Given the description of an element on the screen output the (x, y) to click on. 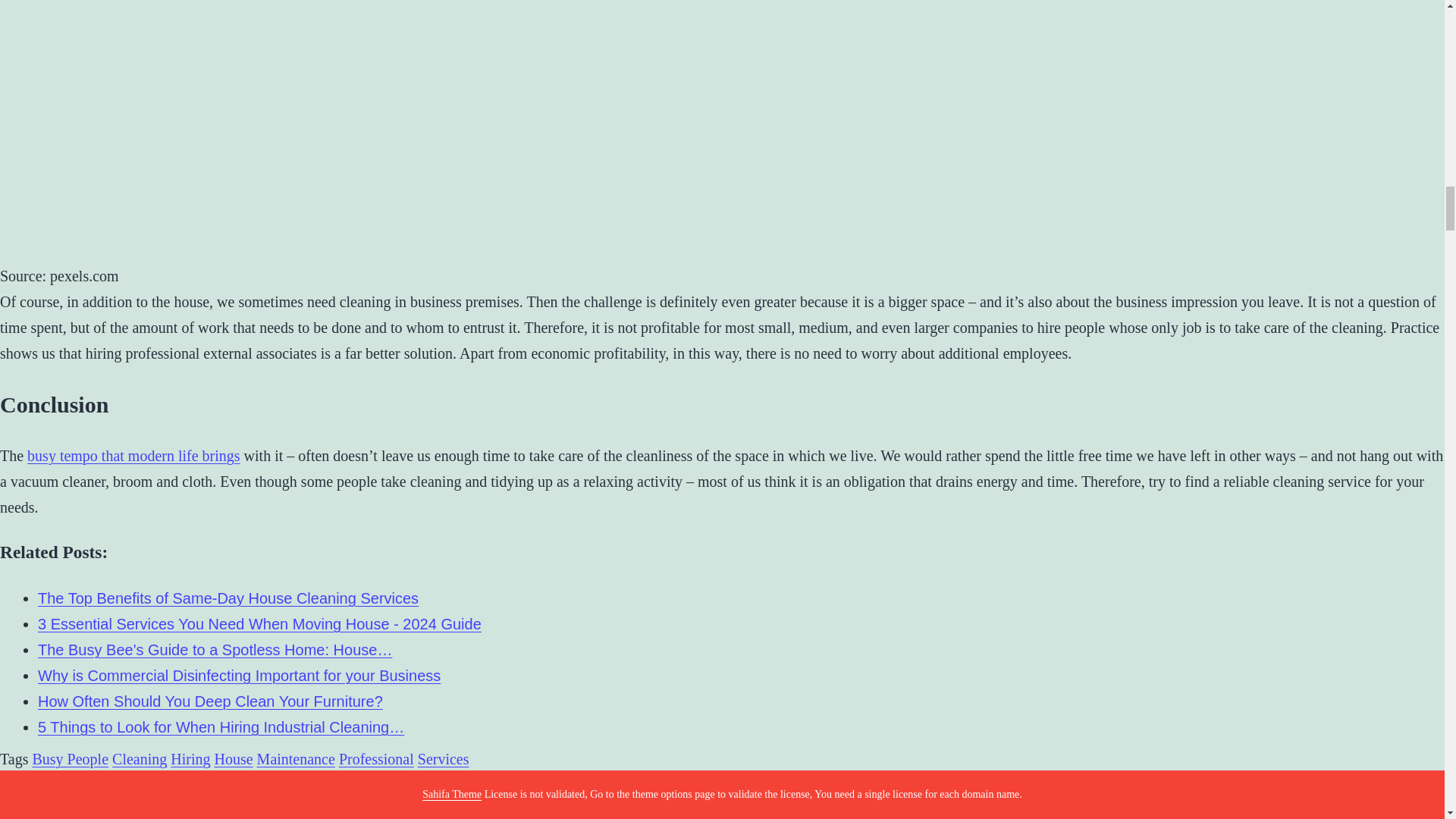
Cleaning (139, 759)
House (232, 759)
Hiring (189, 759)
How Often Should You Deep Clean Your Furniture? (209, 701)
Why is Commercial Disinfecting Important for your Business (239, 675)
The Top Benefits of Same-Day House Cleaning Services (228, 597)
3 Essential Services You Need When Moving House - 2024 Guide (259, 623)
Busy People (69, 759)
busy tempo that modern life brings (133, 455)
